Given the description of an element on the screen output the (x, y) to click on. 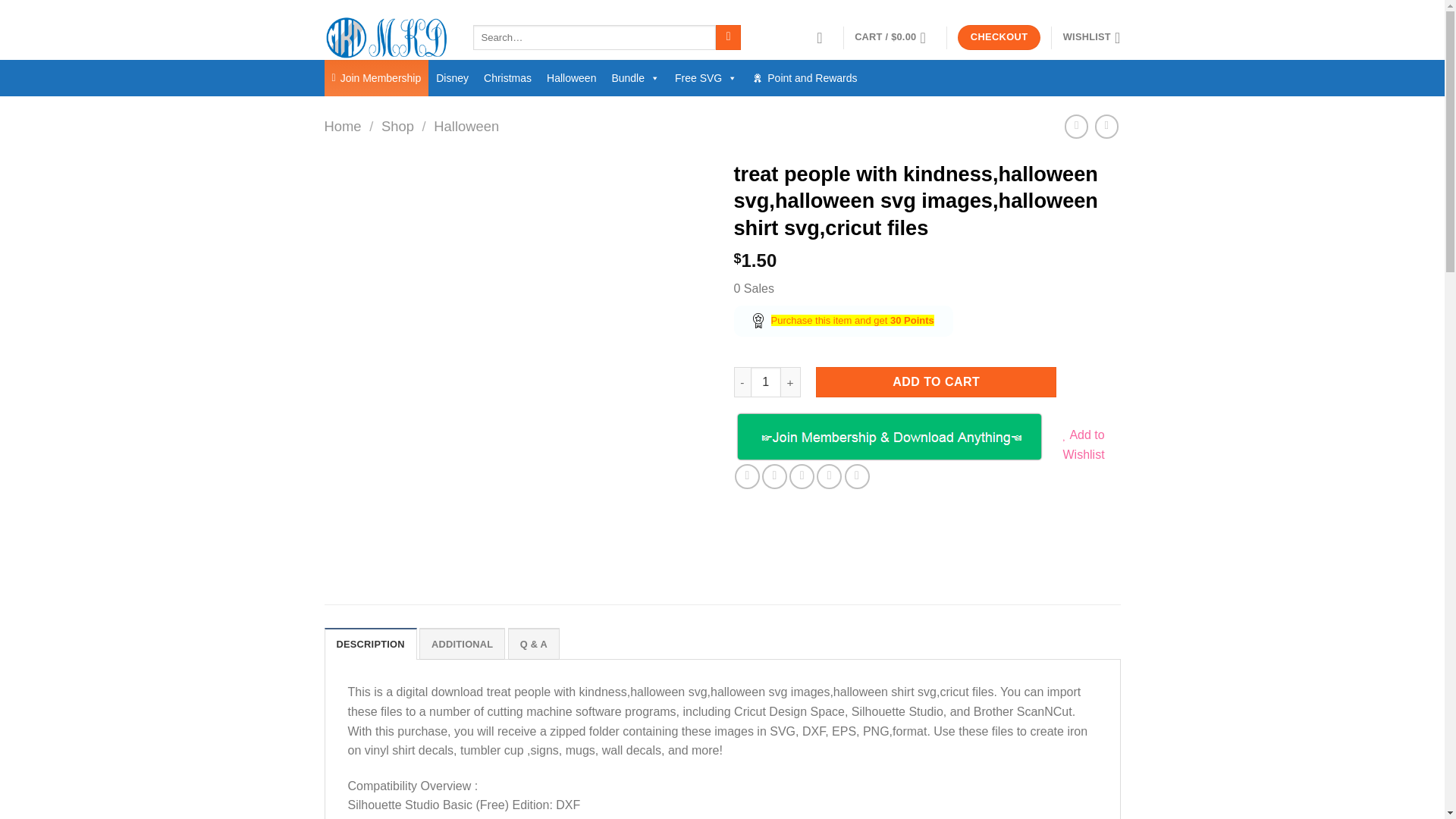
Home (342, 125)
Email to a Friend (801, 476)
Halloween (571, 77)
Qty (765, 381)
Free SVG (705, 77)
ADD TO CART (936, 381)
1 (765, 381)
Add to Wishlist (1083, 444)
Shop (397, 125)
Search (728, 37)
